Given the description of an element on the screen output the (x, y) to click on. 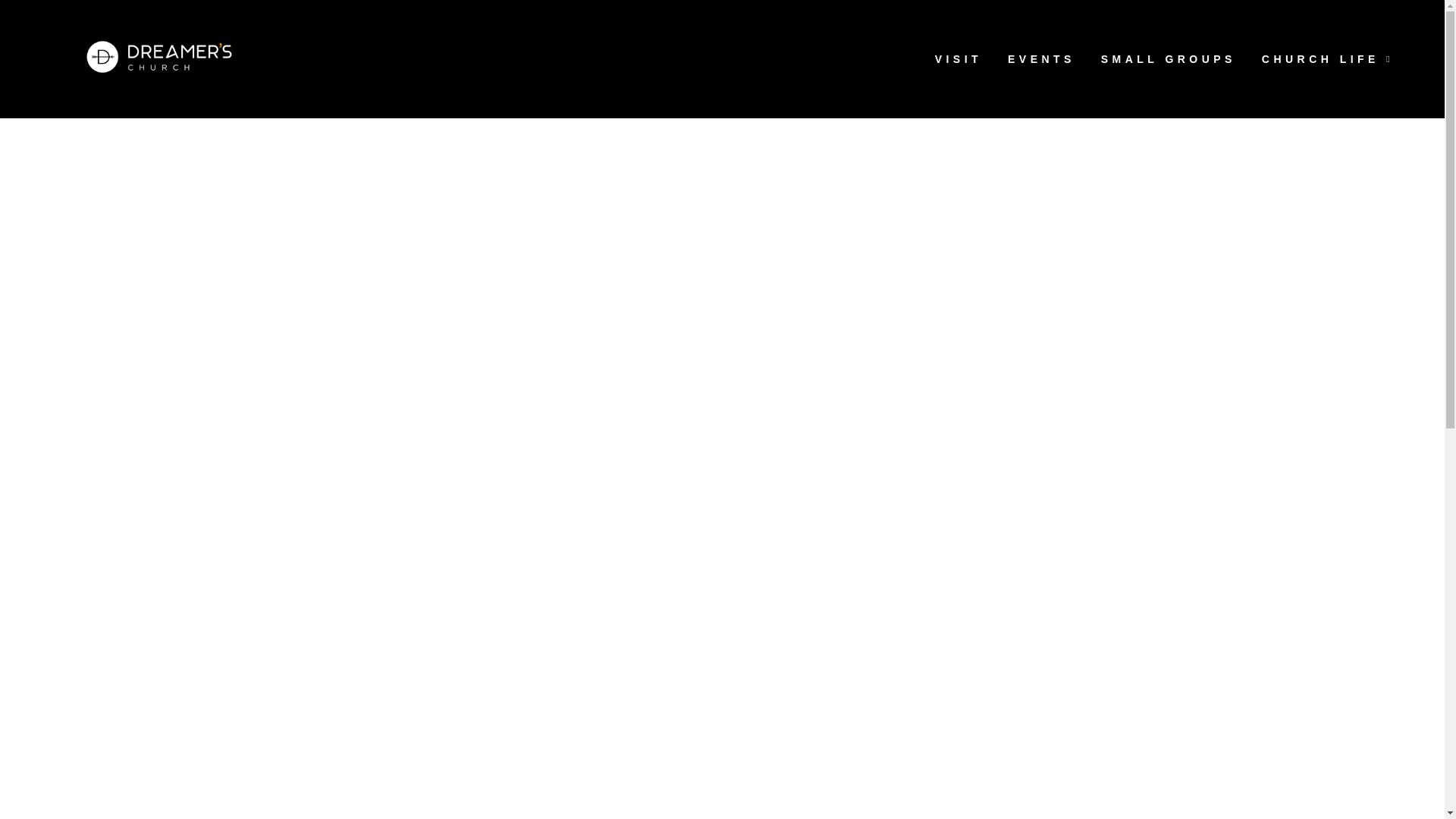
SMALL GROUPS (1168, 58)
EVENTS (1040, 58)
VISIT (957, 58)
CHURCH LIFE  (1327, 58)
